Given the description of an element on the screen output the (x, y) to click on. 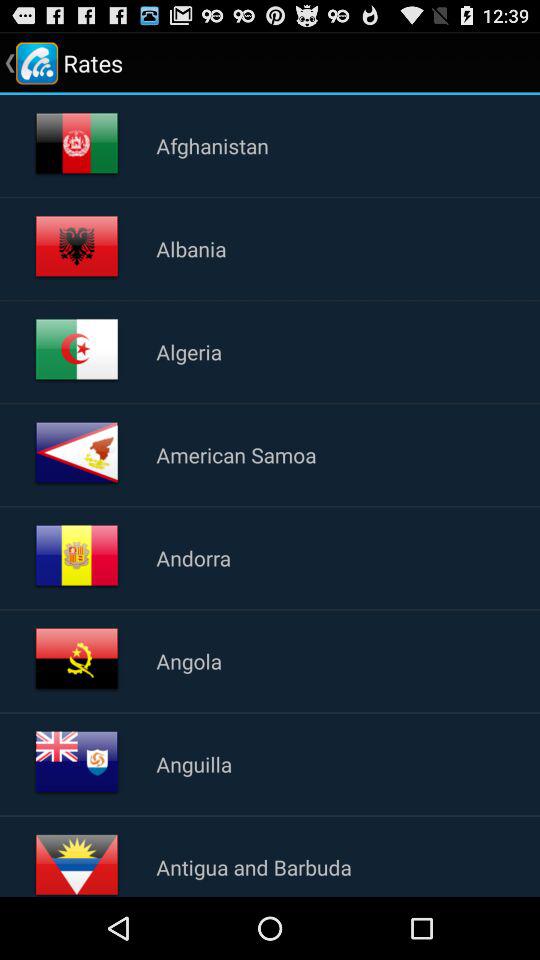
press the app below angola icon (194, 764)
